Given the description of an element on the screen output the (x, y) to click on. 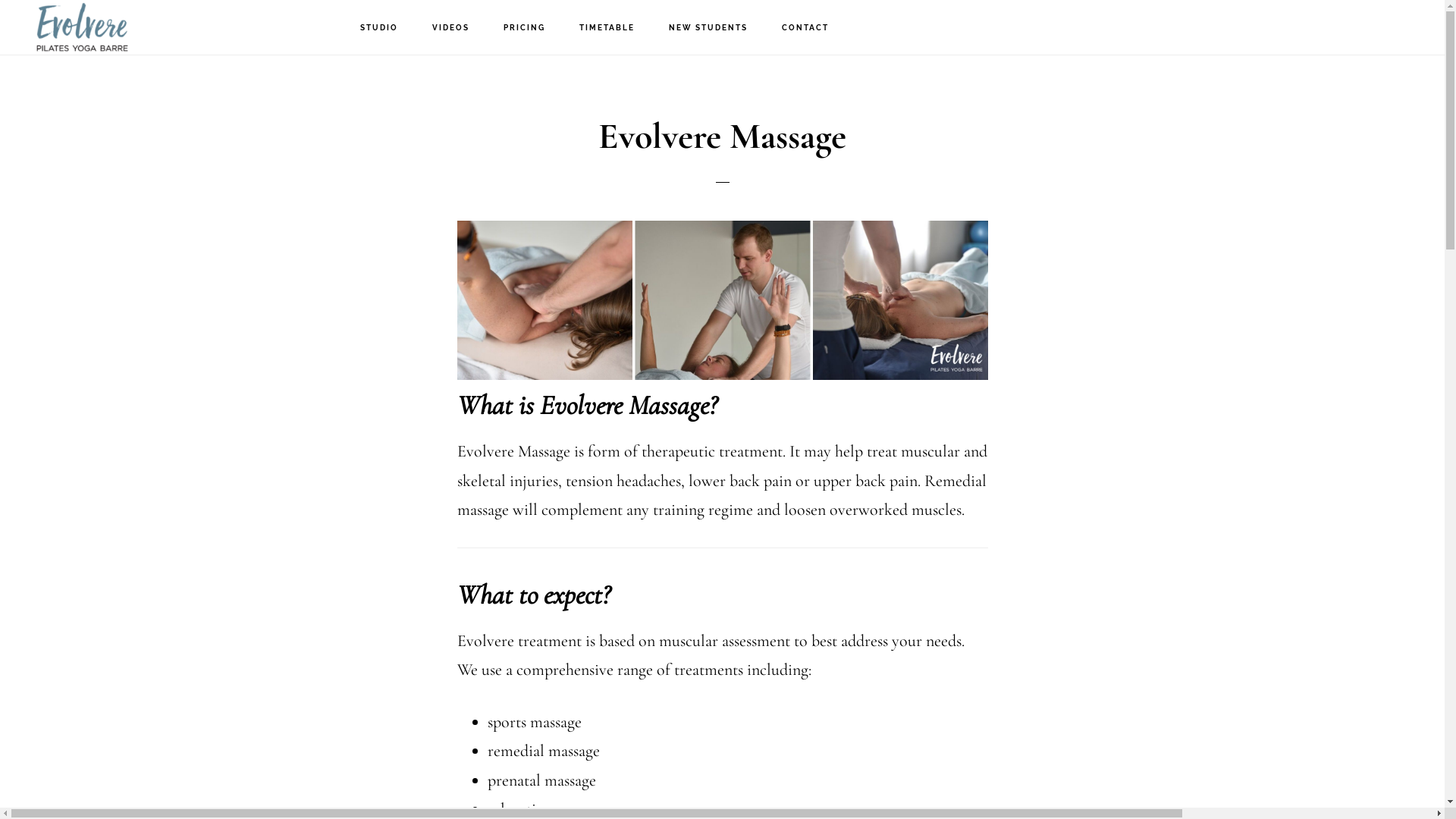
VIDEOS Element type: text (450, 27)
CONTACT Element type: text (804, 27)
STUDIO Element type: text (378, 27)
TIMETABLE Element type: text (606, 27)
EVOLVERE PILATES YOGA BARRE Element type: text (98, 26)
Skip to main content Element type: text (0, 0)
PRICING Element type: text (524, 27)
NEW STUDENTS Element type: text (707, 27)
